Given the description of an element on the screen output the (x, y) to click on. 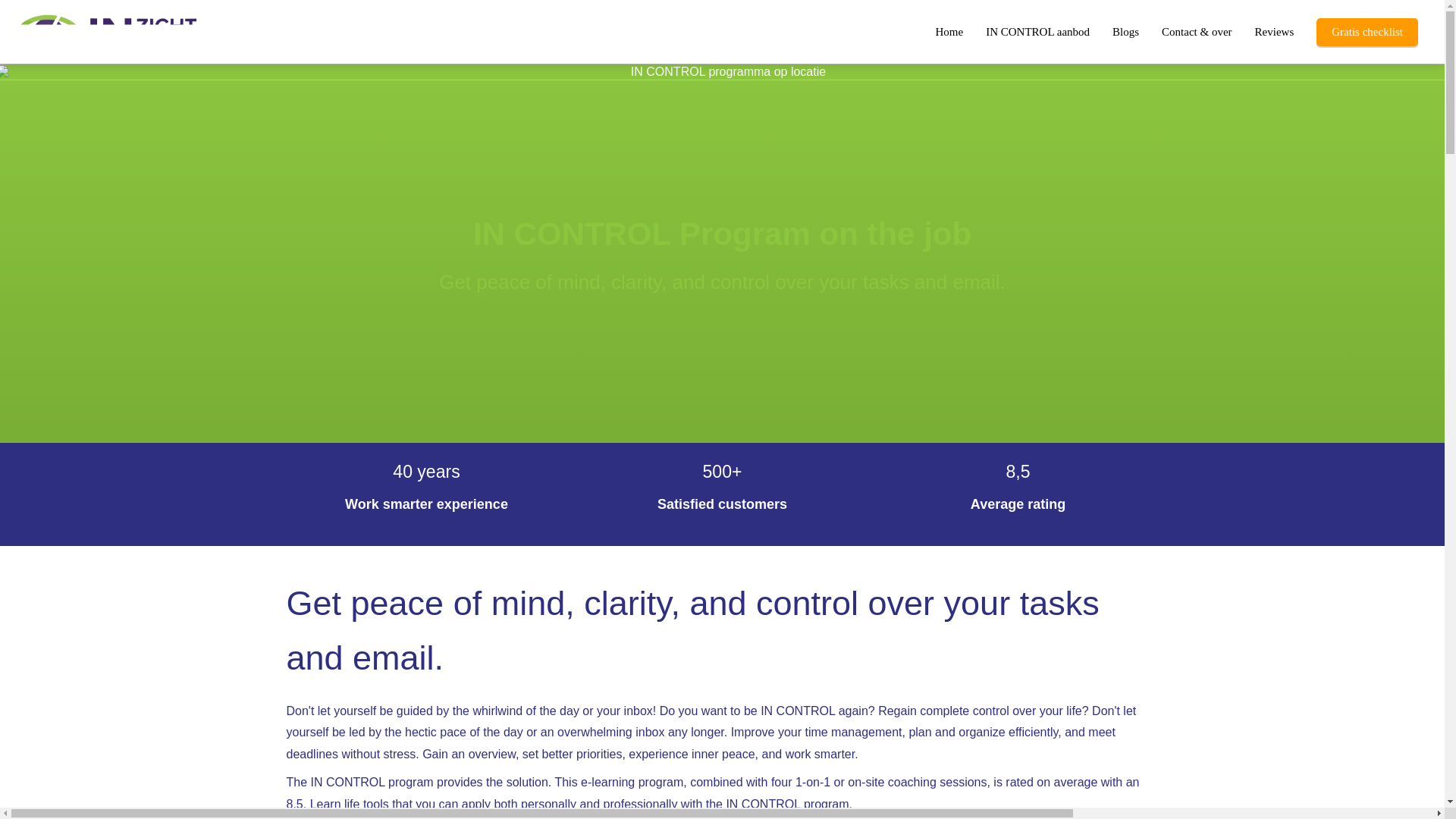
Reviews (1274, 30)
IN CONTROL aanbod (1037, 30)
Home (948, 30)
Gratis checklist (1366, 30)
Blogs (1125, 30)
leer slimmer werken (147, 30)
